Given the description of an element on the screen output the (x, y) to click on. 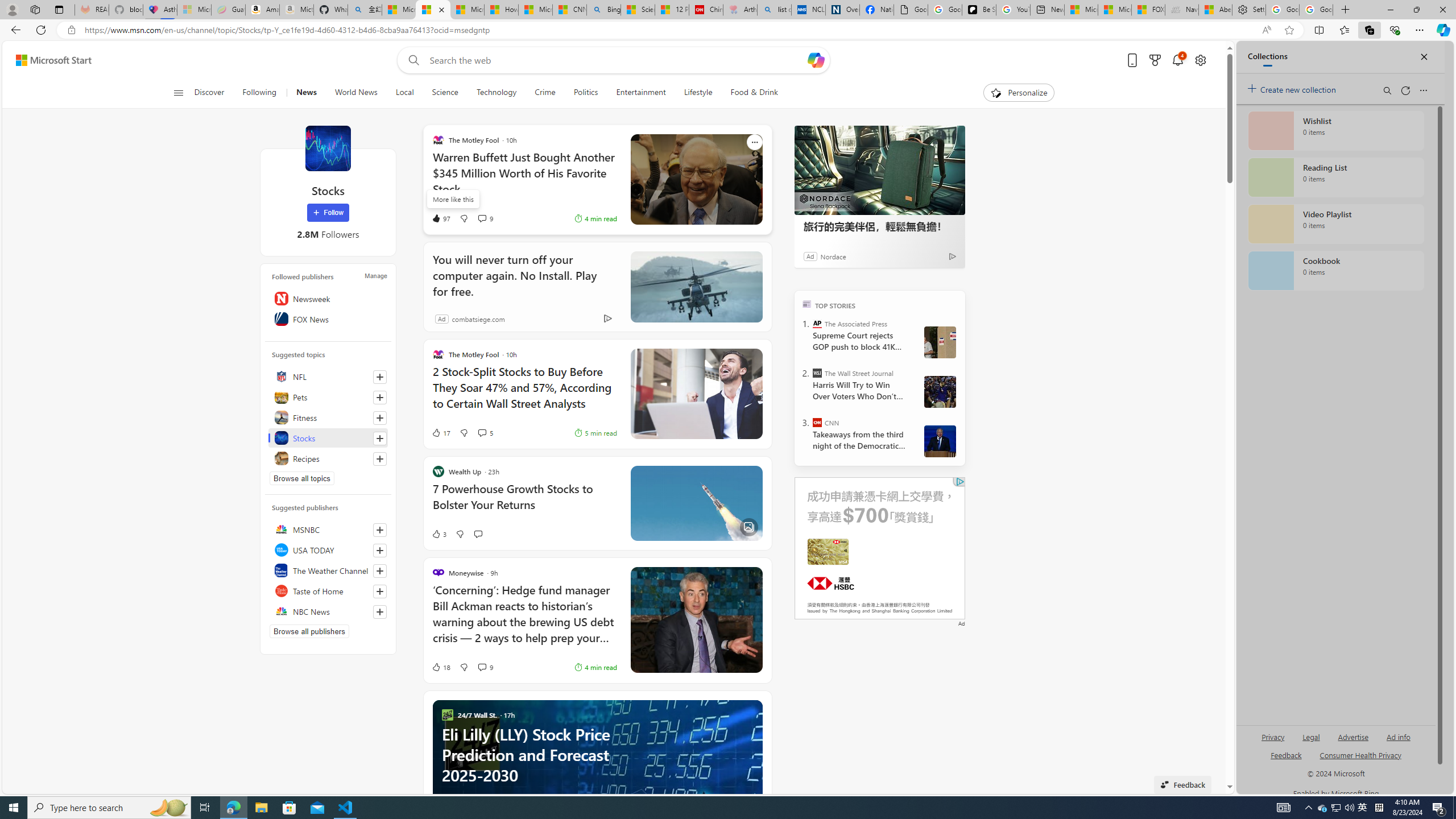
The Weather Channel (327, 570)
The Wall Street Journal (816, 372)
Follow this source (379, 611)
TOP (806, 302)
